Given the description of an element on the screen output the (x, y) to click on. 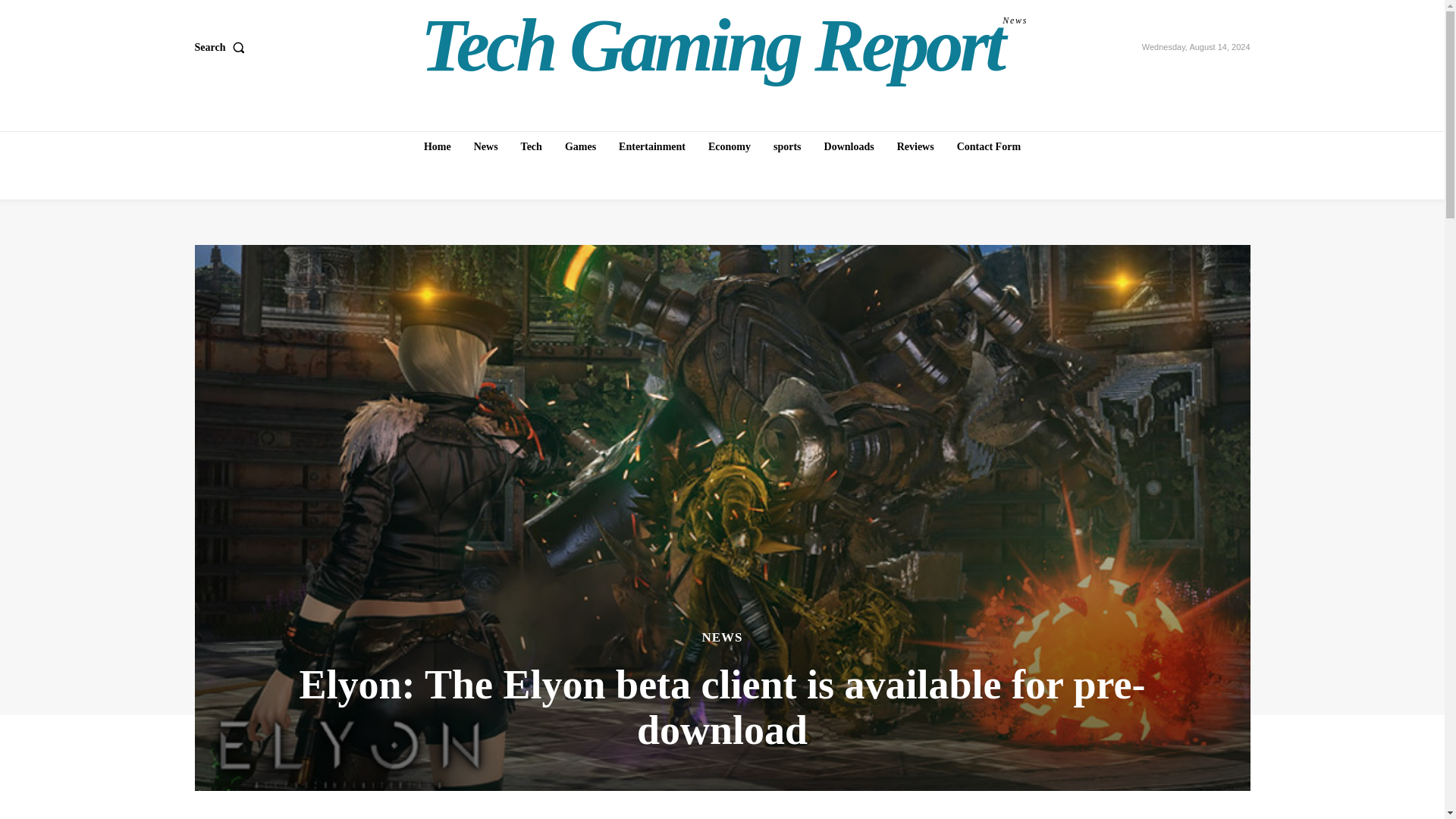
Tech (531, 146)
Home (437, 146)
Downloads (849, 146)
Entertainment (652, 146)
Reviews (915, 146)
sports (787, 146)
Contact Form (724, 45)
News (988, 146)
Search (485, 146)
